Given the description of an element on the screen output the (x, y) to click on. 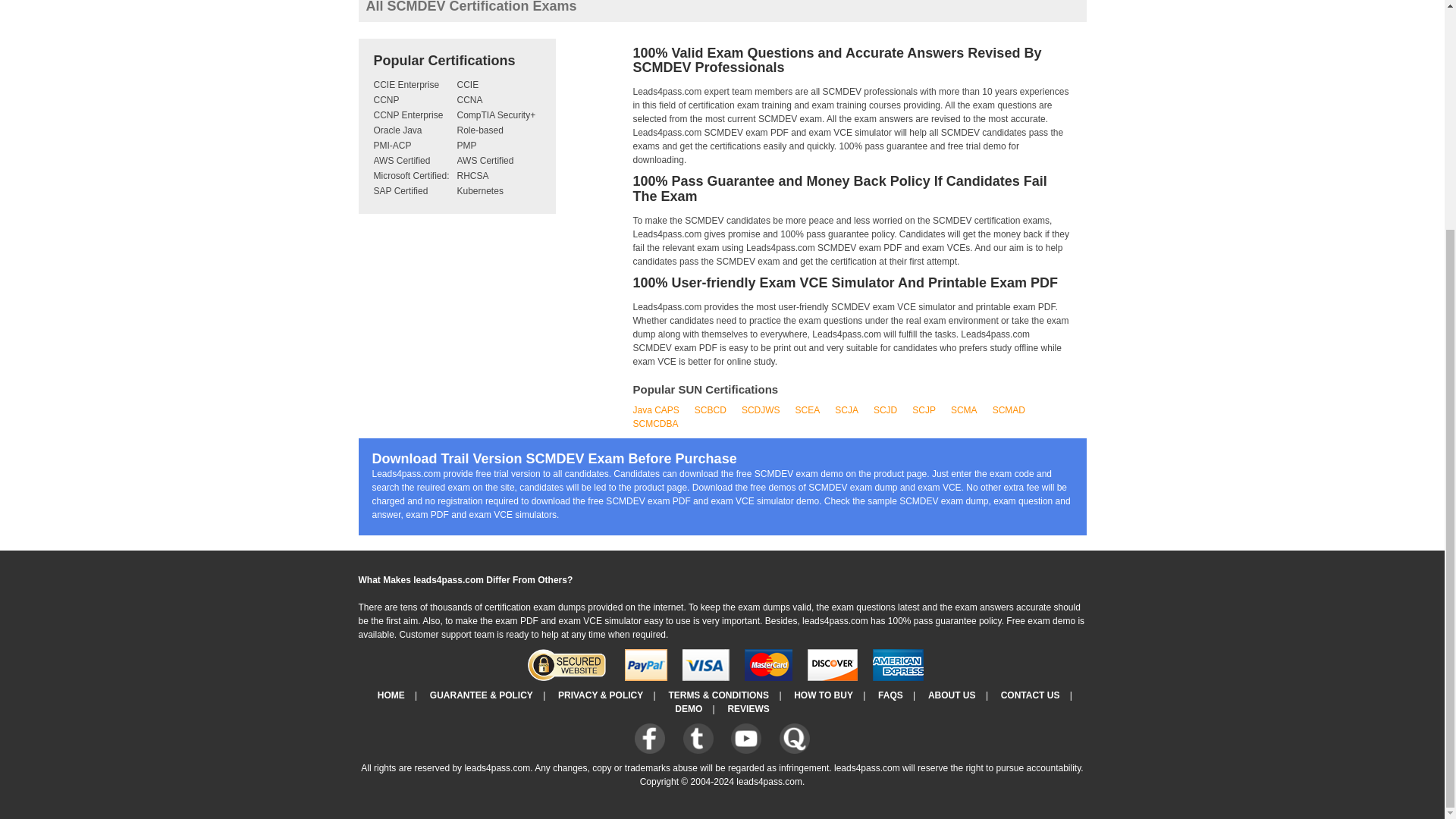
SCMAD (1008, 409)
CCNP Enterprise (407, 114)
Role-based (479, 130)
Role-based (479, 130)
PMP (466, 145)
AWS Certified Associate (400, 167)
PMP (466, 145)
PMI-ACP (391, 145)
SCJA (846, 409)
Kubernetes Administrator (484, 198)
SCMCDBA (654, 423)
SCMA (963, 409)
RHCSA (472, 175)
CCNP (385, 100)
CCIE Enterprise Infrastructure (405, 92)
